Given the description of an element on the screen output the (x, y) to click on. 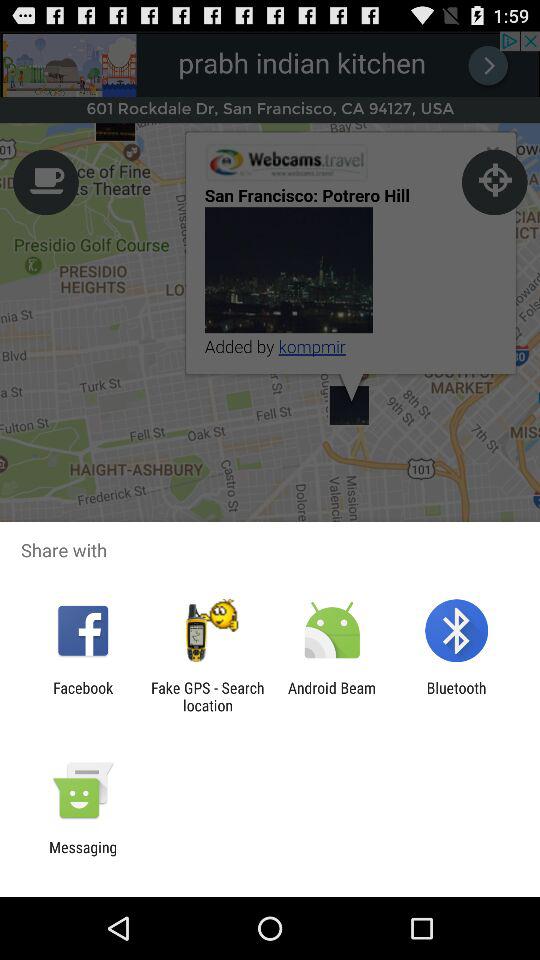
press app next to the android beam item (456, 696)
